Given the description of an element on the screen output the (x, y) to click on. 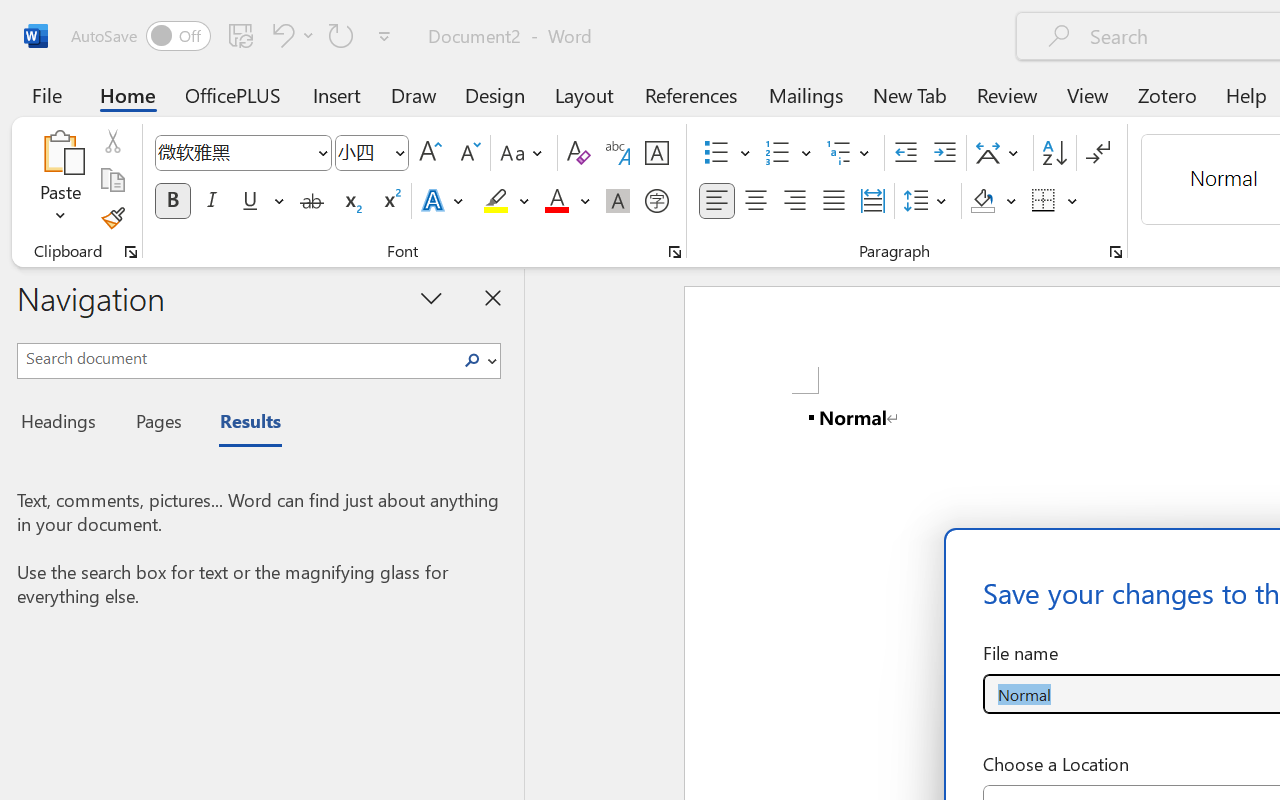
Italic (212, 201)
Change Case (524, 153)
Home (127, 94)
Text Effects and Typography (444, 201)
Copy (112, 179)
Save (241, 35)
Underline (261, 201)
Results (240, 424)
Font Color (567, 201)
Asian Layout (1000, 153)
Character Border (656, 153)
Undo Text Fill Effect (290, 35)
View (1087, 94)
Phonetic Guide... (618, 153)
